Given the description of an element on the screen output the (x, y) to click on. 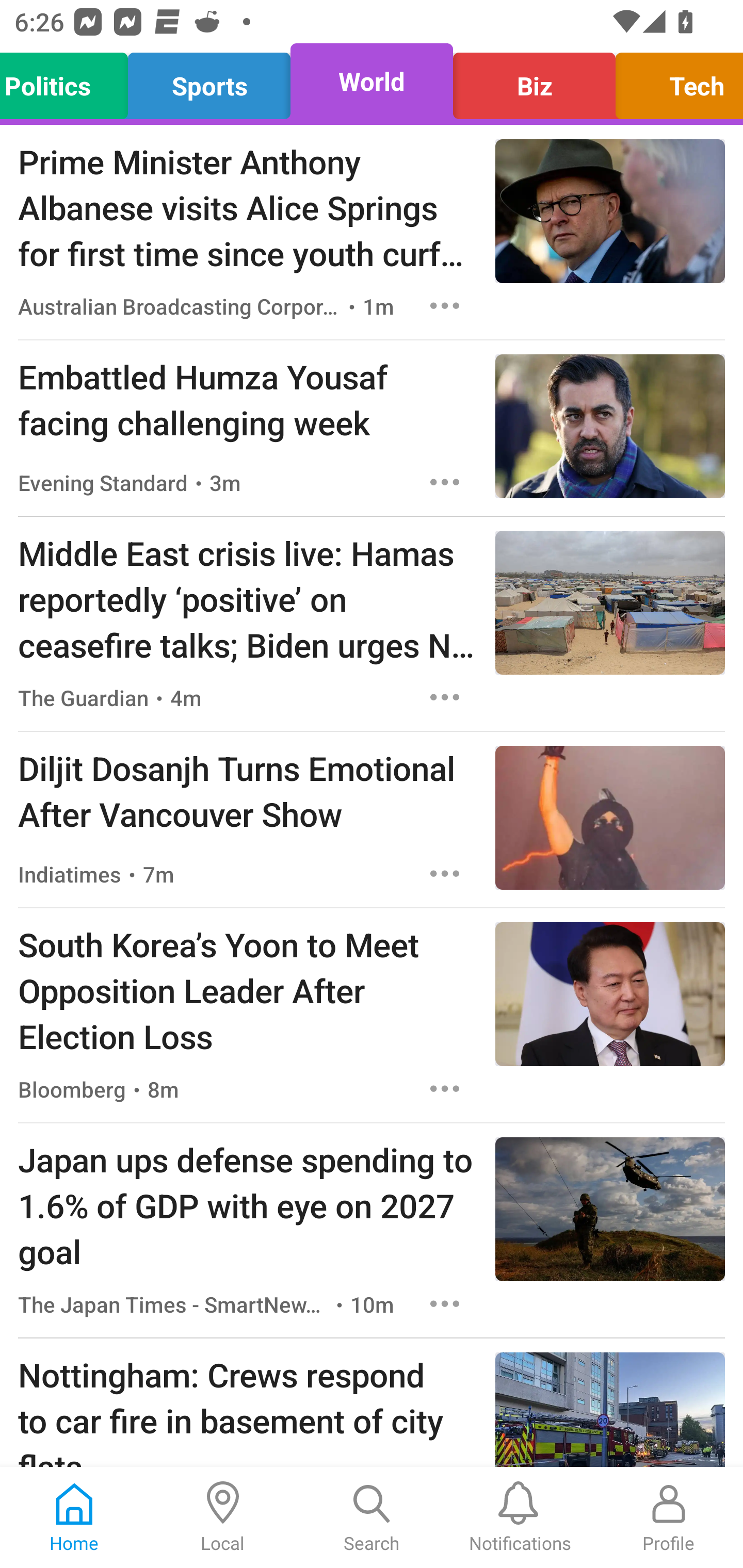
Politics (69, 81)
Sports (209, 81)
World (371, 81)
Biz (534, 81)
Tech (673, 81)
Options (444, 305)
Options (444, 481)
Options (444, 697)
Options (444, 873)
Options (444, 1088)
Options (444, 1303)
Local (222, 1517)
Search (371, 1517)
Notifications (519, 1517)
Profile (668, 1517)
